Given the description of an element on the screen output the (x, y) to click on. 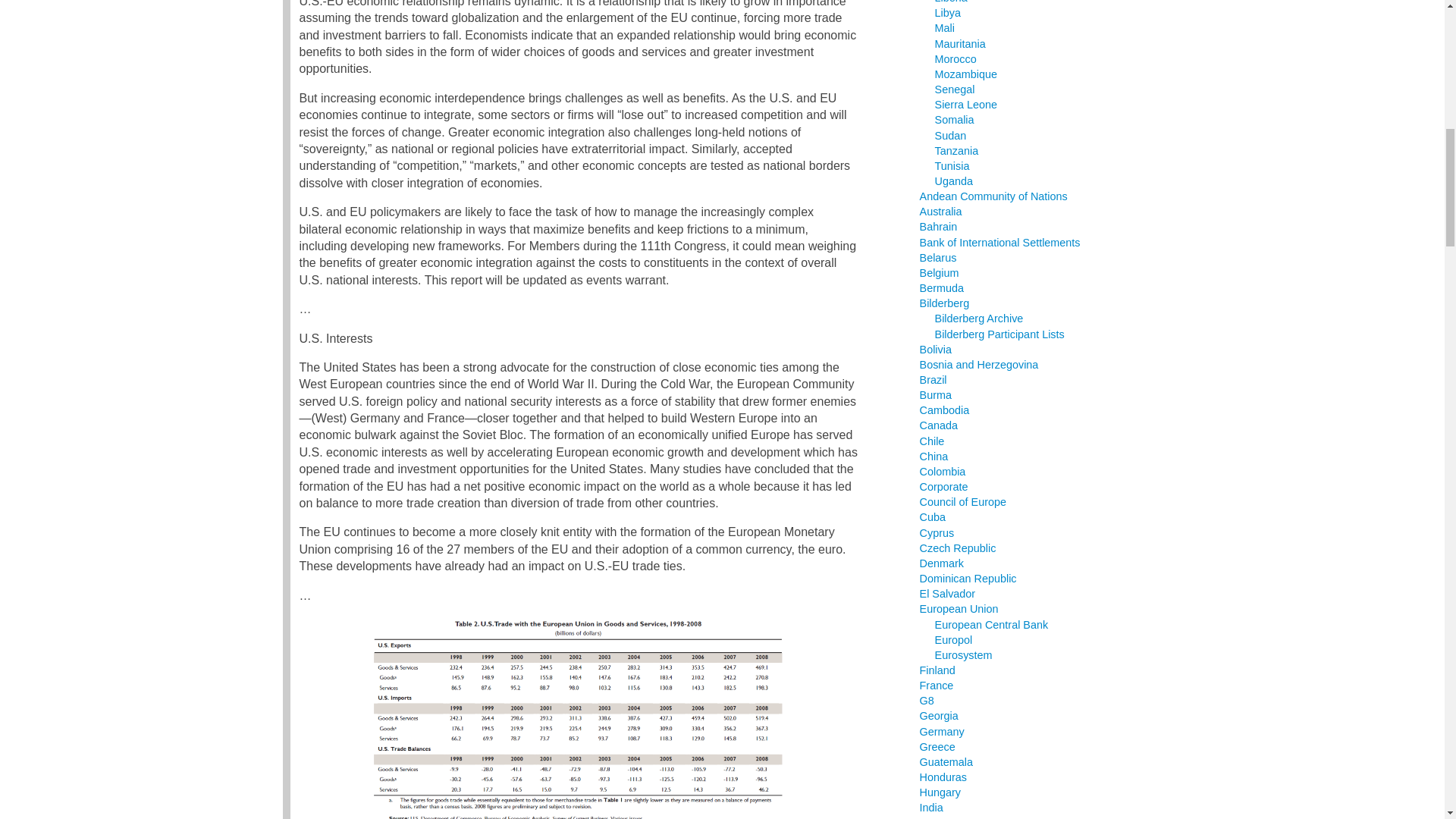
Liberia (951, 2)
useu (579, 717)
